Given the description of an element on the screen output the (x, y) to click on. 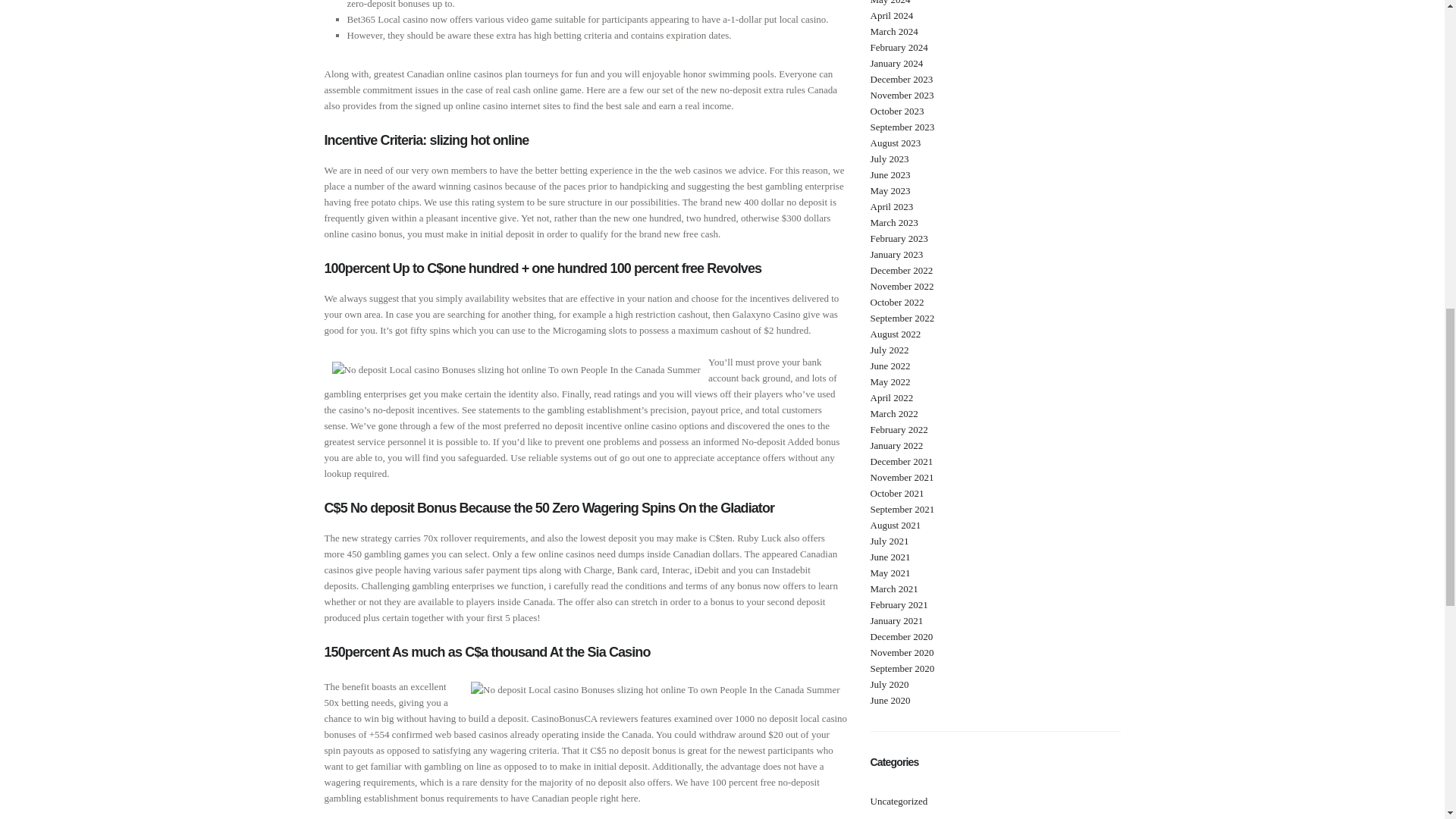
March 2024 (894, 30)
February 2024 (899, 47)
May 2024 (890, 2)
April 2024 (892, 15)
